Given the description of an element on the screen output the (x, y) to click on. 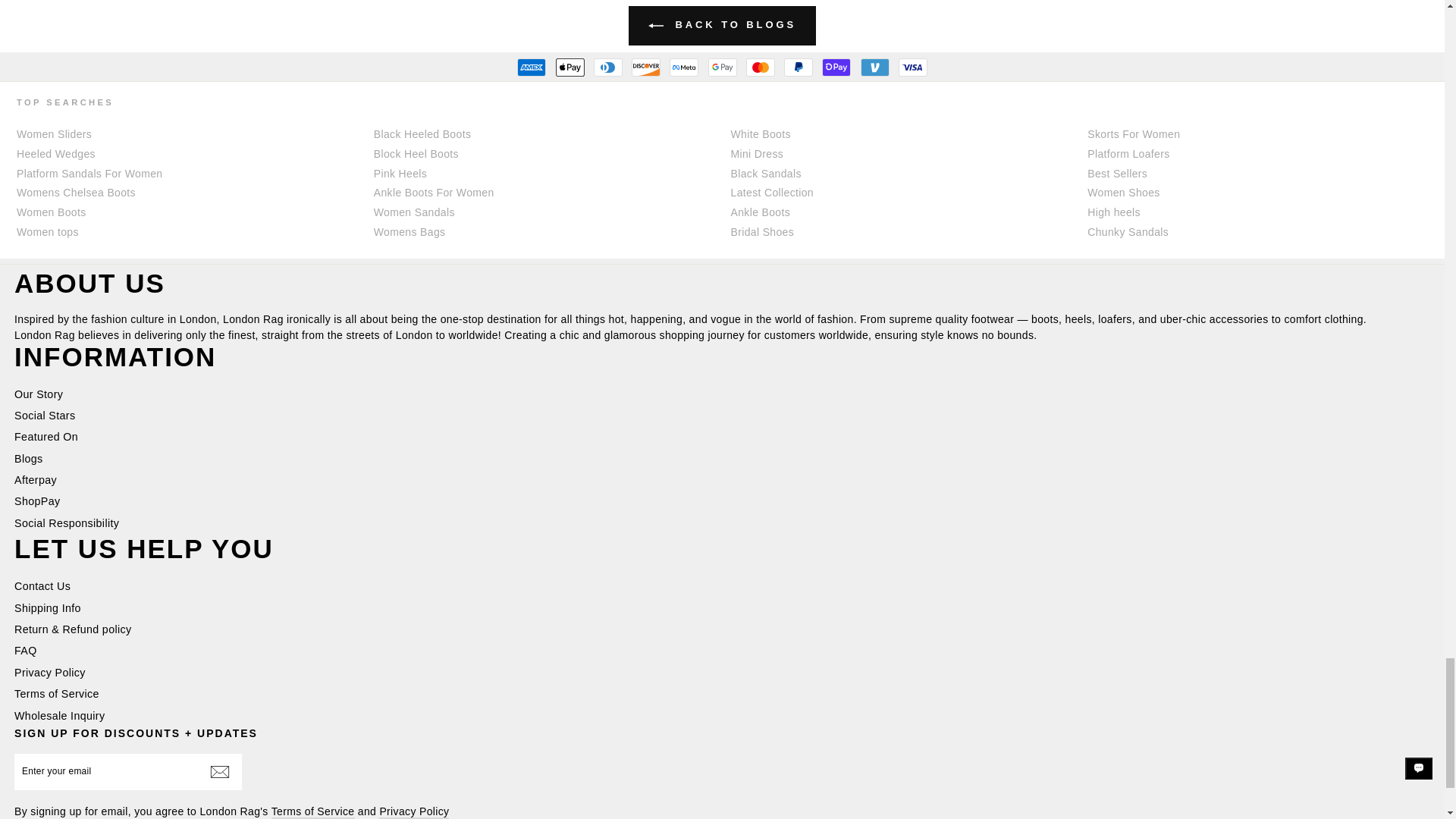
Meta Pay (683, 67)
ICON-LEFT-ARROW (655, 25)
Venmo (874, 67)
Apple Pay (568, 67)
Diners Club (608, 67)
Google Pay (721, 67)
Discover (646, 67)
Mastercard (759, 67)
Terms of Service (312, 812)
Visa (912, 67)
PayPal (798, 67)
Privacy Policy (413, 812)
Shop Pay (836, 67)
icon-email (219, 771)
American Express (531, 67)
